Given the description of an element on the screen output the (x, y) to click on. 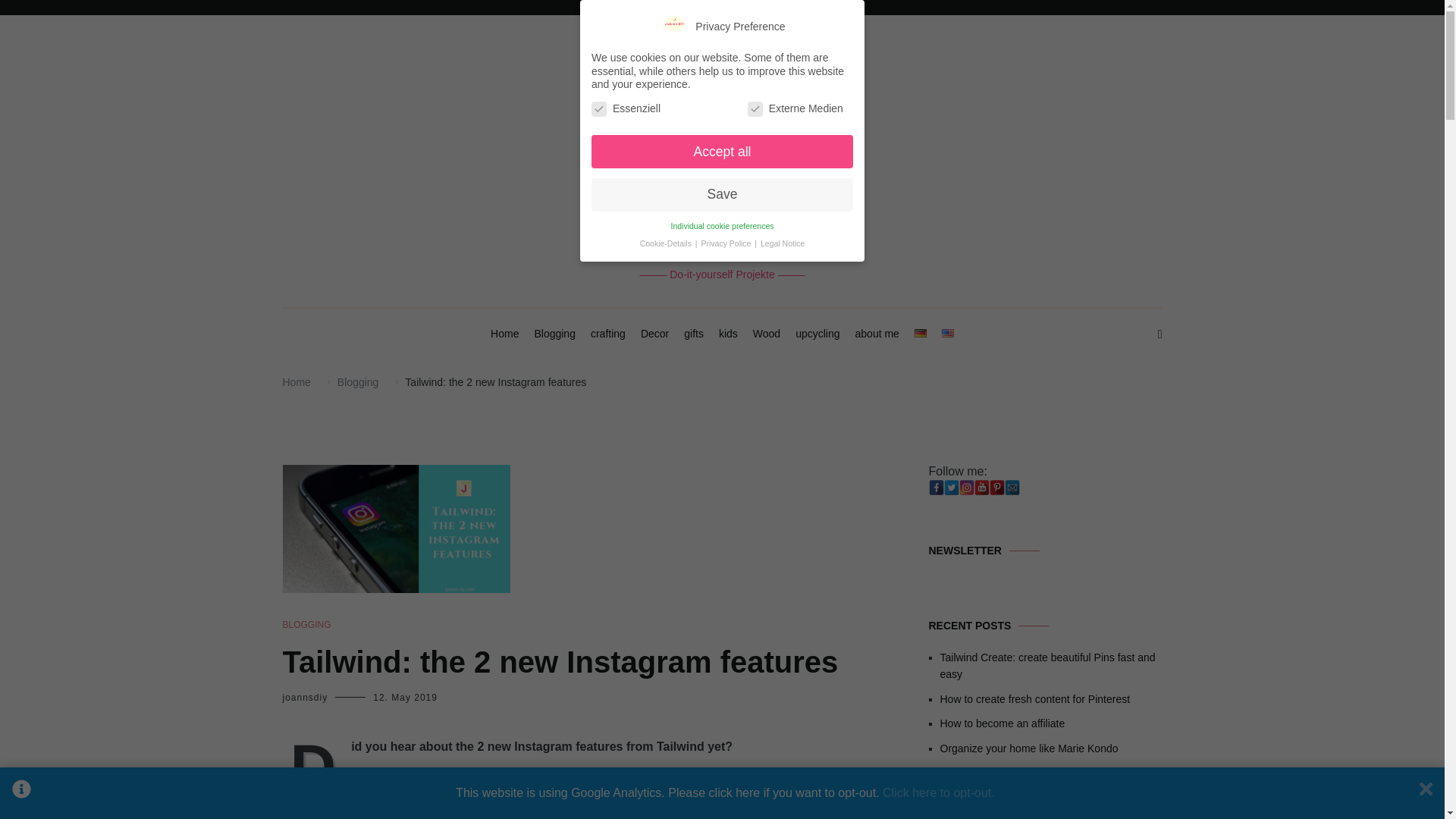
Home (296, 381)
crafting (608, 334)
12. May 2019 (405, 697)
D (316, 764)
Blogging (357, 381)
Blogging (554, 334)
about me (877, 334)
BLOGGING (306, 625)
upcycling (817, 334)
joannsdiy (304, 697)
